Given the description of an element on the screen output the (x, y) to click on. 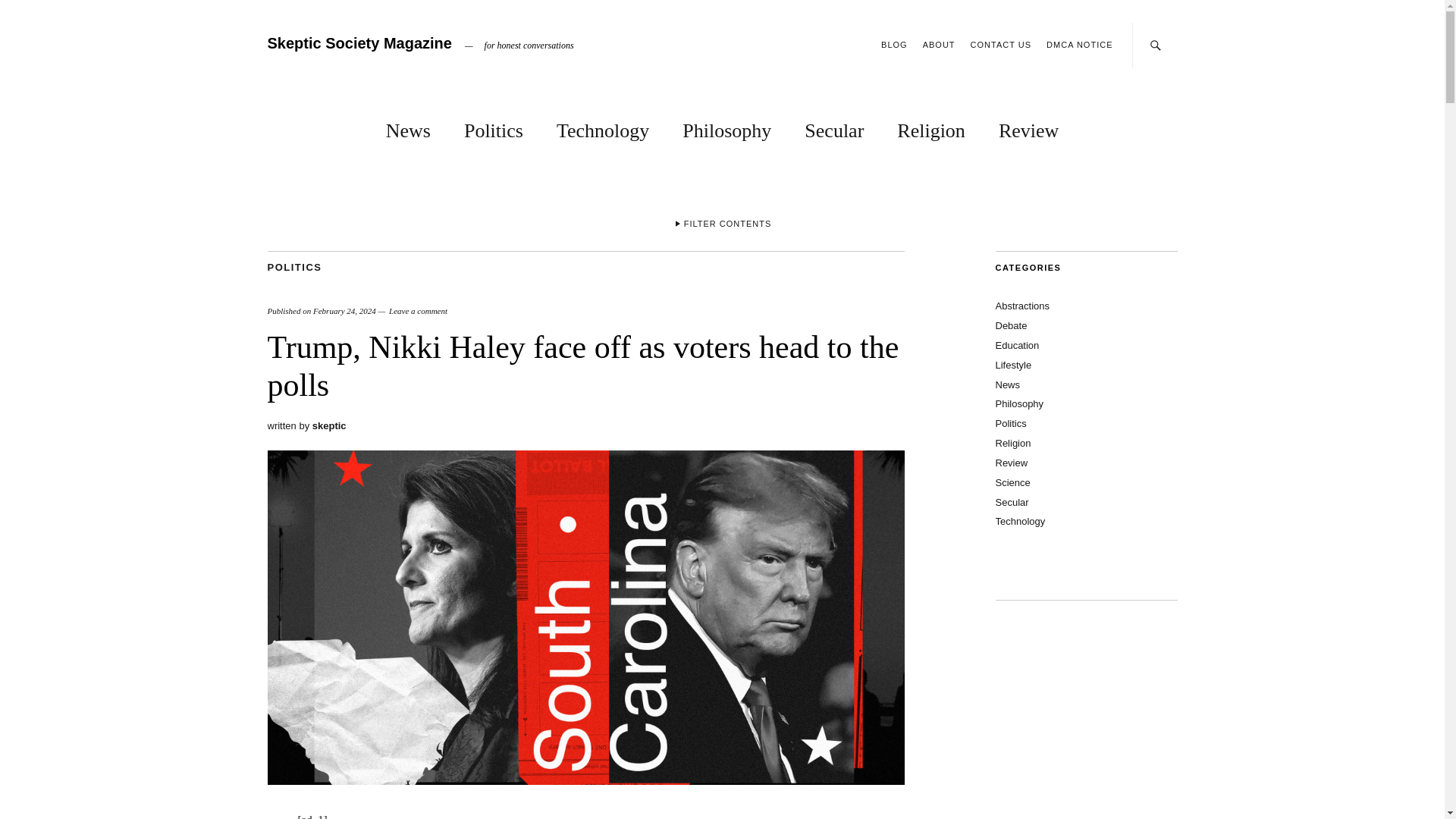
News (407, 127)
Philosophy (726, 127)
BLOG (893, 44)
CONTACT US (1001, 44)
ABOUT (939, 44)
Religion (930, 127)
Skeptic Society Magazine (358, 43)
FILTER CONTENTS (721, 226)
DMCA NOTICE (1079, 44)
Review (1028, 127)
Secular (834, 127)
Skeptic Society Magazine (358, 43)
Technology (602, 127)
All posts by skeptic (329, 425)
